Given the description of an element on the screen output the (x, y) to click on. 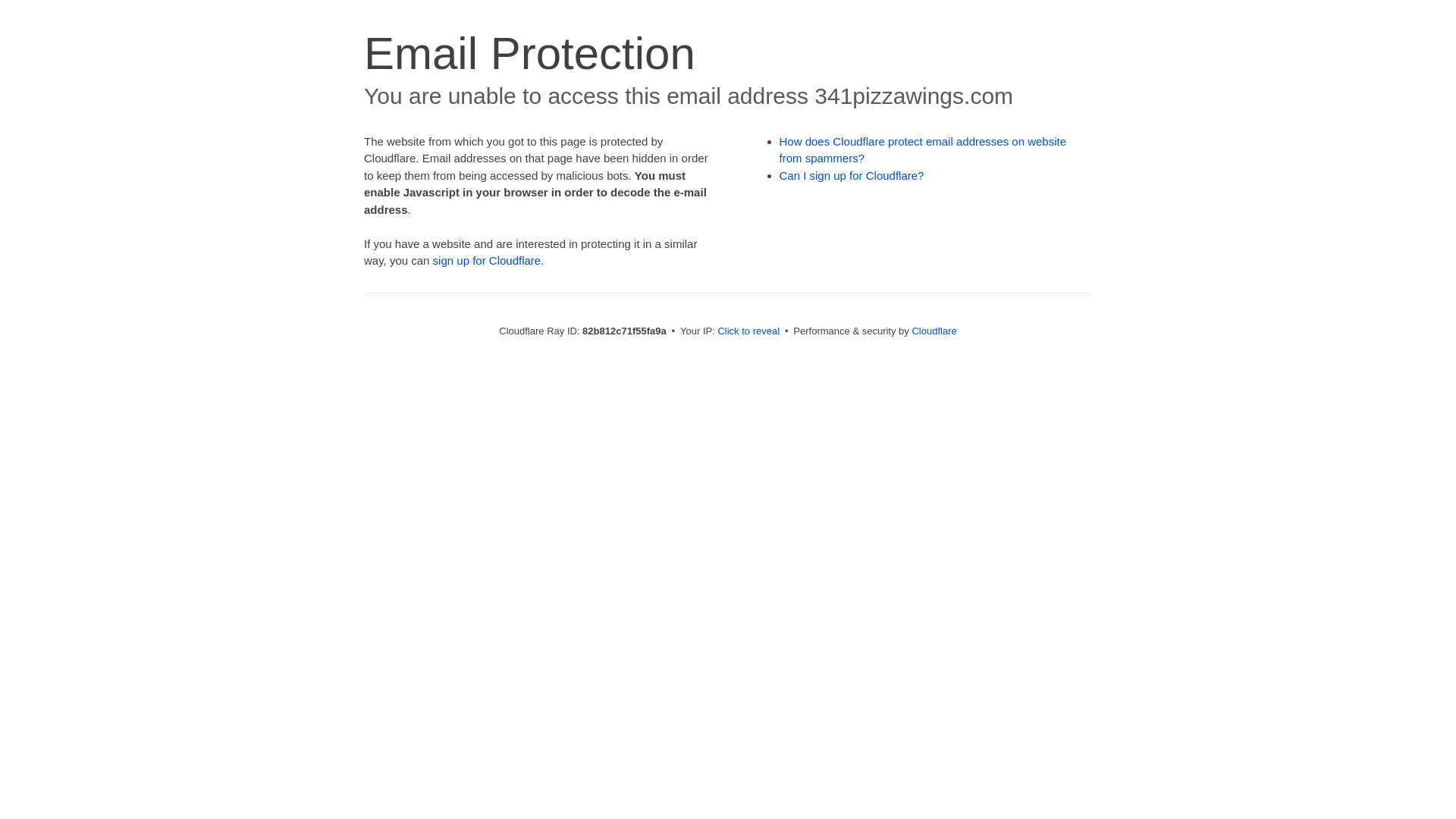
Cloudflare Element type: text (933, 330)
Click to reveal Element type: text (748, 330)
sign up for Cloudflare Element type: text (487, 260)
Can I sign up for Cloudflare? Element type: text (851, 175)
